Given the description of an element on the screen output the (x, y) to click on. 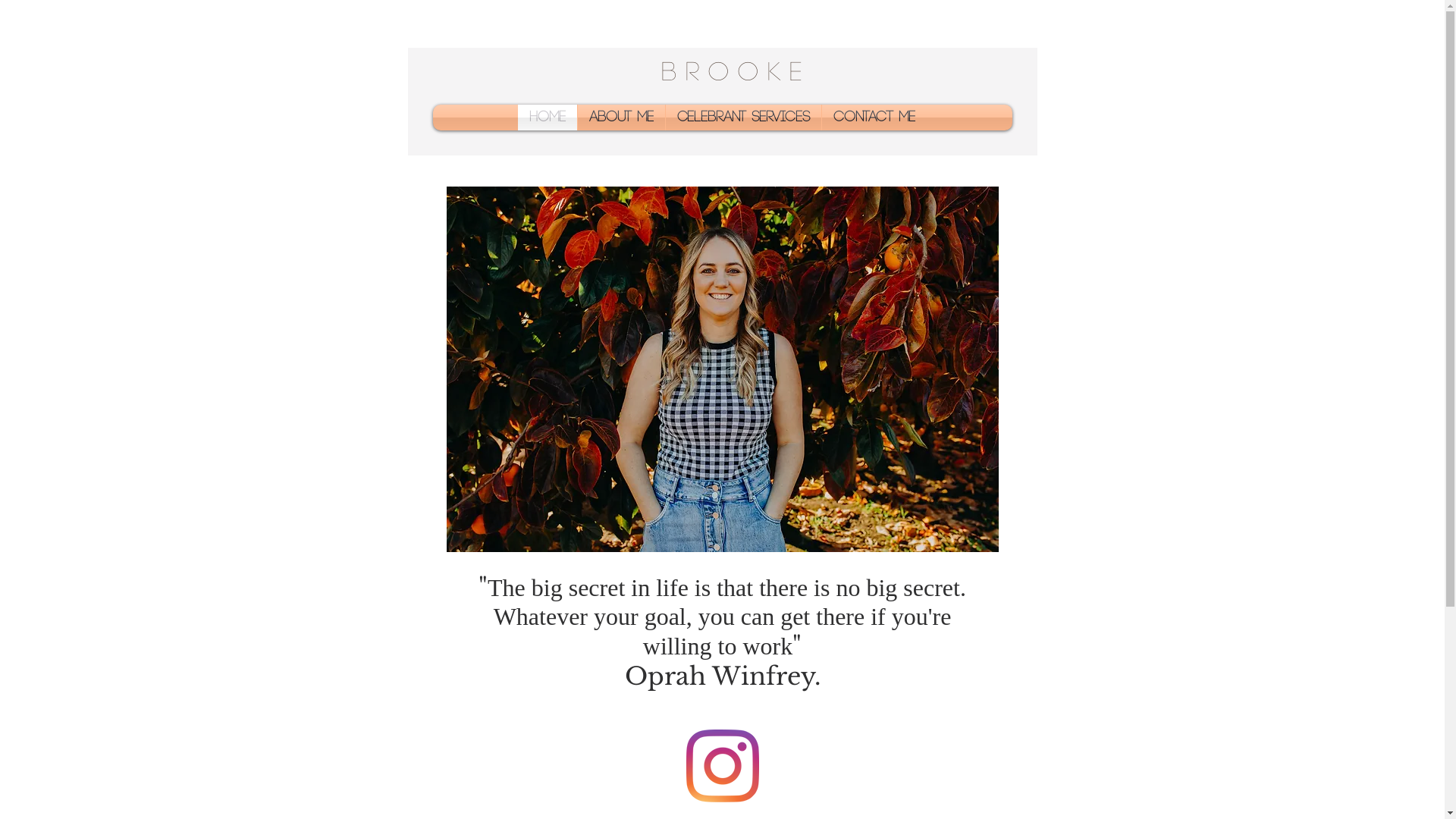
Celebrant Services Element type: text (743, 117)
B R O O K E Element type: text (731, 72)
contact me Element type: text (874, 117)
home Element type: text (547, 117)
about me Element type: text (621, 117)
